Given the description of an element on the screen output the (x, y) to click on. 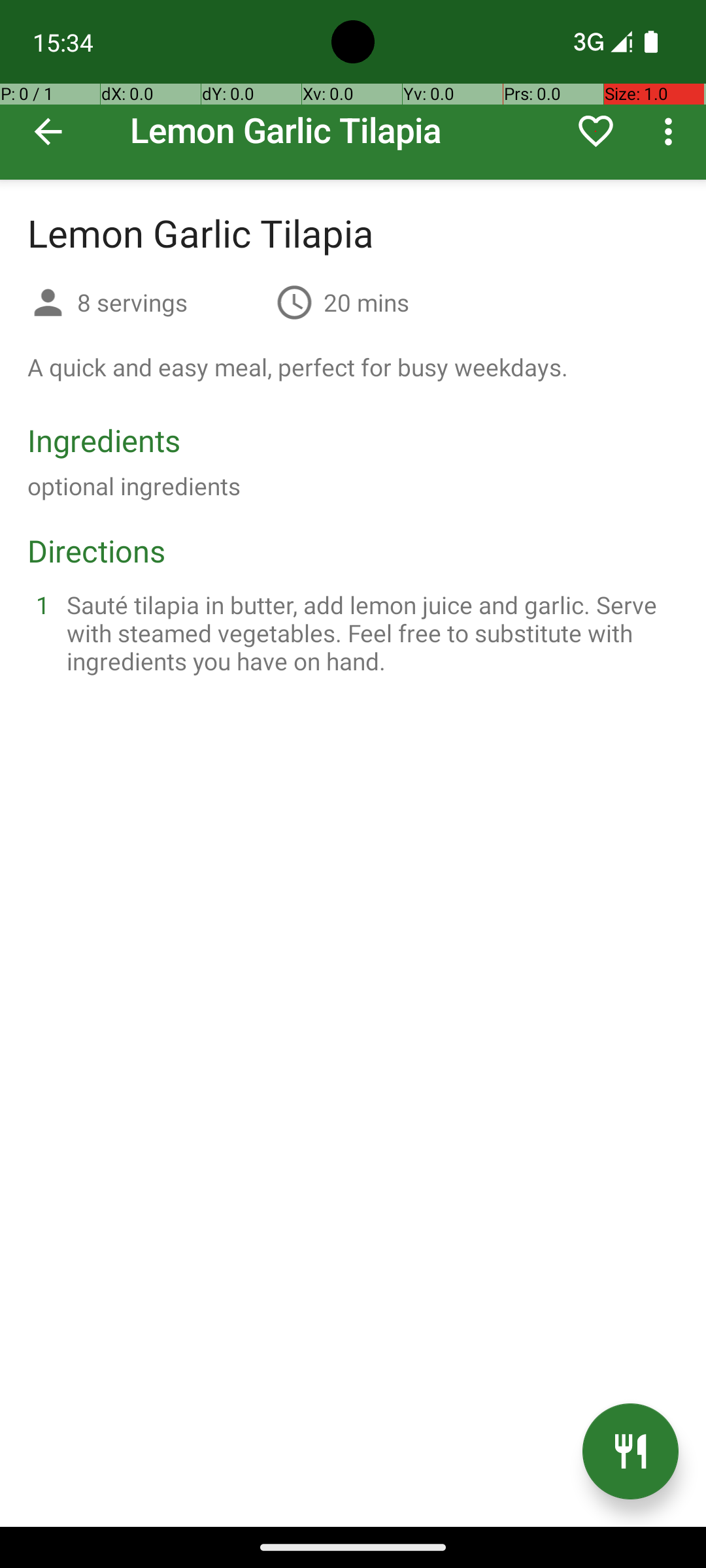
Lemon Garlic Tilapia Element type: android.widget.FrameLayout (353, 89)
20 mins Element type: android.widget.TextView (366, 301)
optional ingredients Element type: android.widget.TextView (133, 485)
Sauté tilapia in butter, add lemon juice and garlic. Serve with steamed vegetables. Feel free to substitute with ingredients you have on hand. Element type: android.widget.TextView (368, 632)
